Given the description of an element on the screen output the (x, y) to click on. 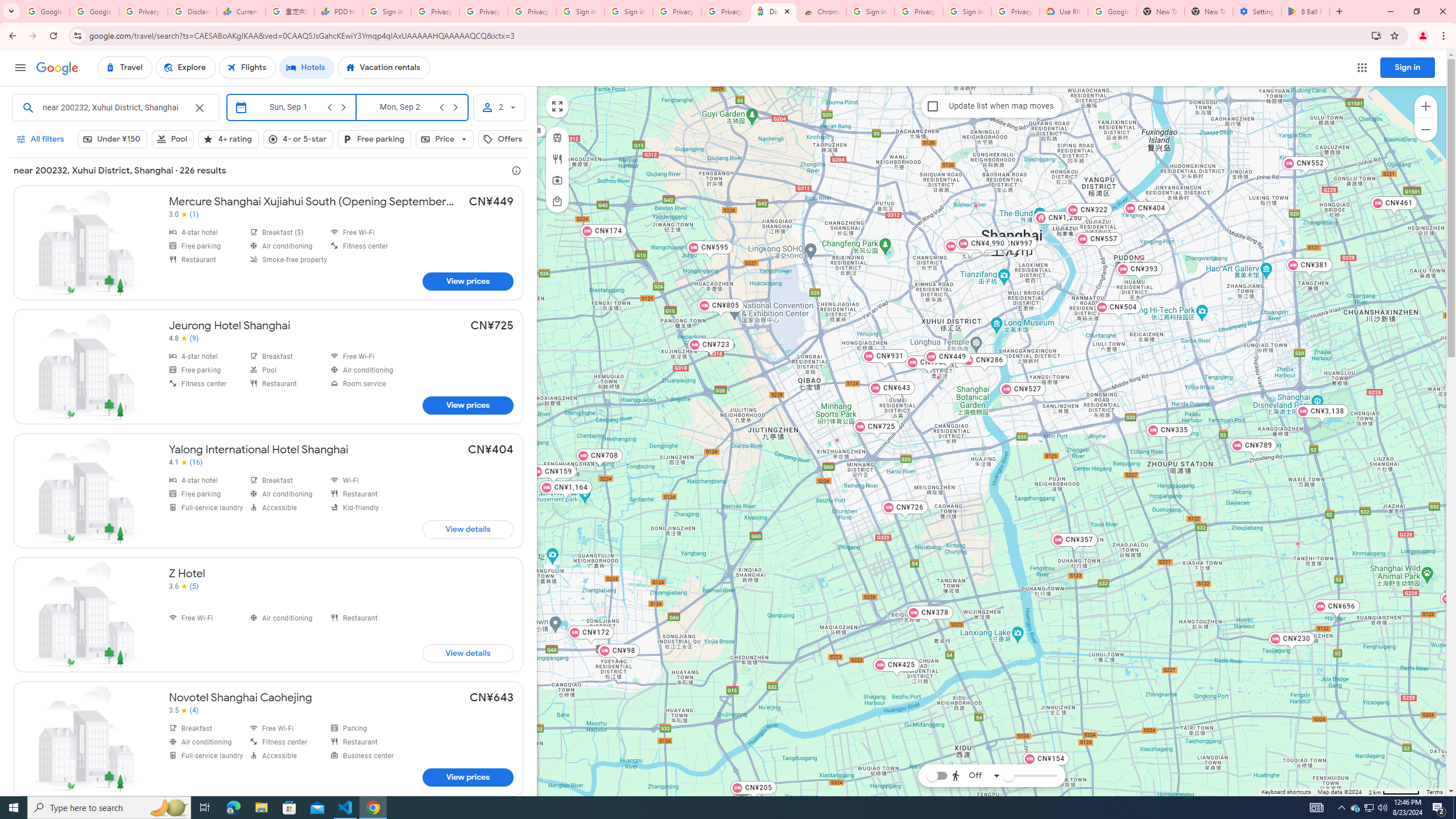
Hotels (306, 67)
Discover Hotels For Your Next Trip - Google hotels (773, 11)
Update list when map moves (932, 106)
Areas for dining (556, 158)
Number of travelers. Current number of travelers is 2. (499, 107)
Parkline Century Park Hotel Shanghai (1139, 256)
Check-in (287, 107)
